Given the description of an element on the screen output the (x, y) to click on. 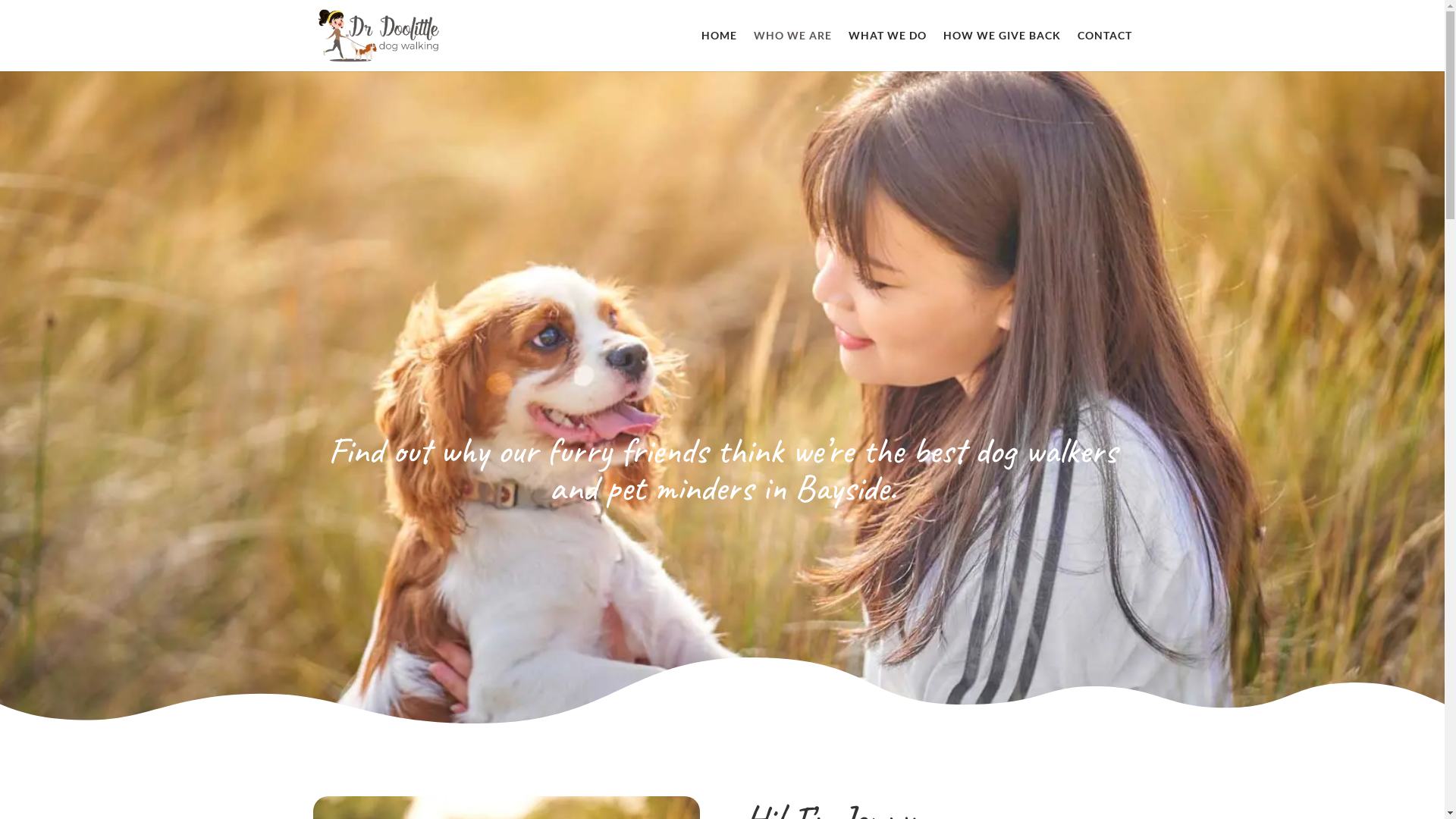
WHO WE ARE Element type: text (792, 50)
WHAT WE DO Element type: text (886, 50)
HOME Element type: text (718, 50)
HOW WE GIVE BACK Element type: text (1001, 50)
CONTACT Element type: text (1103, 50)
